Given the description of an element on the screen output the (x, y) to click on. 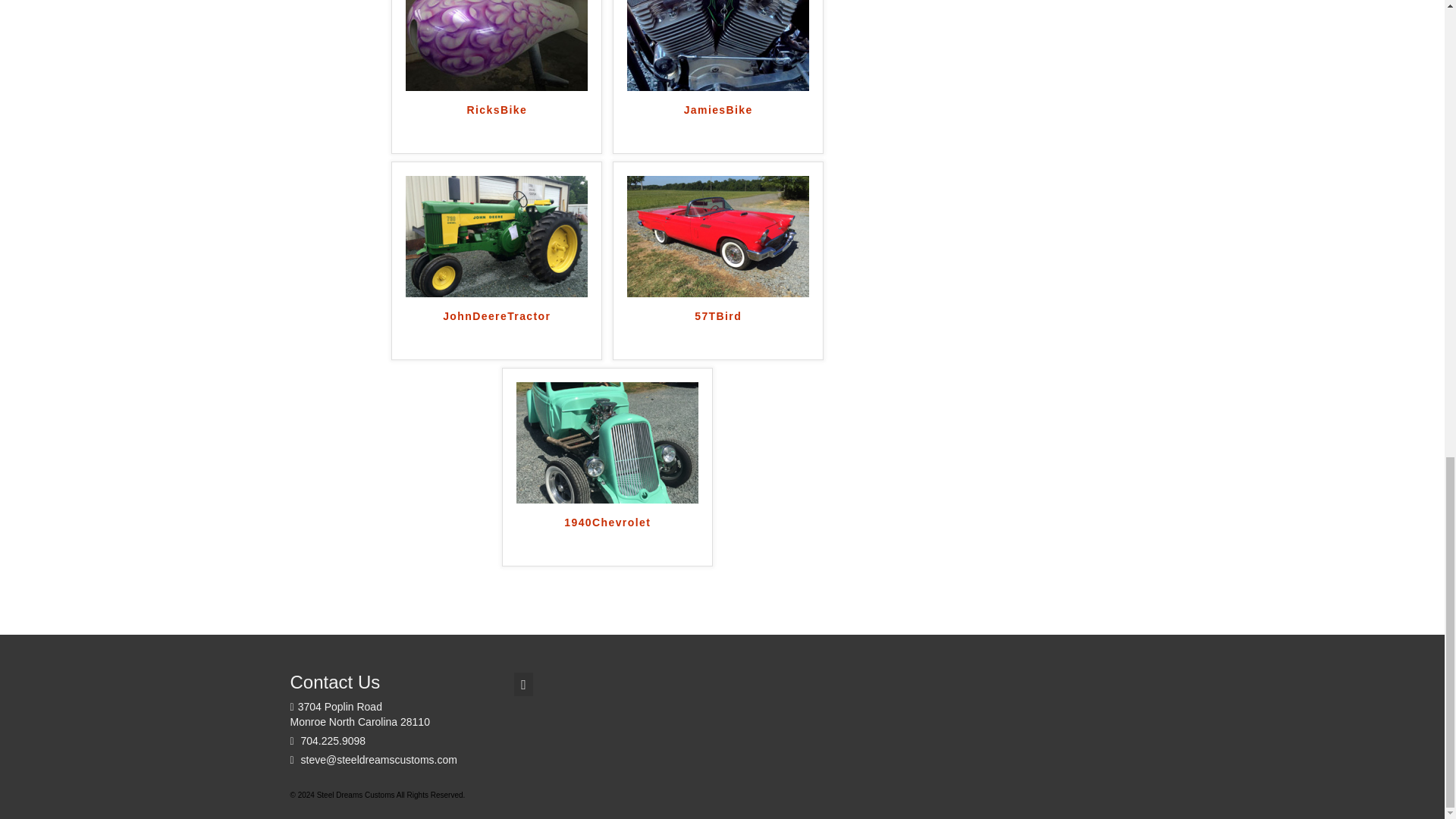
JamiesBike (718, 28)
1940Chevrolet (607, 536)
RicksBike (497, 28)
JohnDeereTractor (496, 331)
JohnDeereTractor (497, 234)
RicksBike (496, 124)
RicksBike (496, 124)
JamiesBike (718, 124)
57TBird (718, 331)
JamiesBike (718, 124)
